Given the description of an element on the screen output the (x, y) to click on. 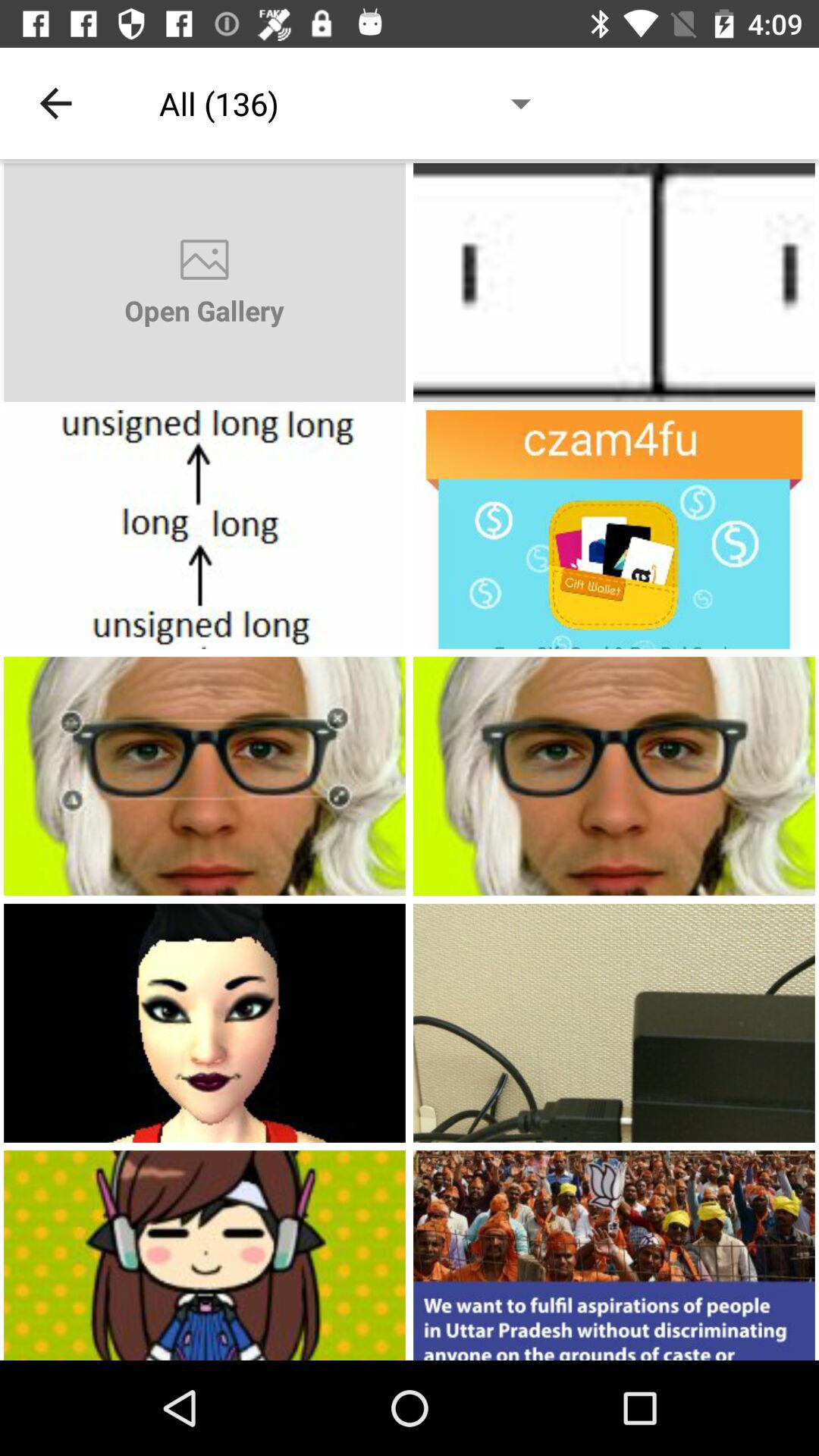
menu opp (614, 529)
